Given the description of an element on the screen output the (x, y) to click on. 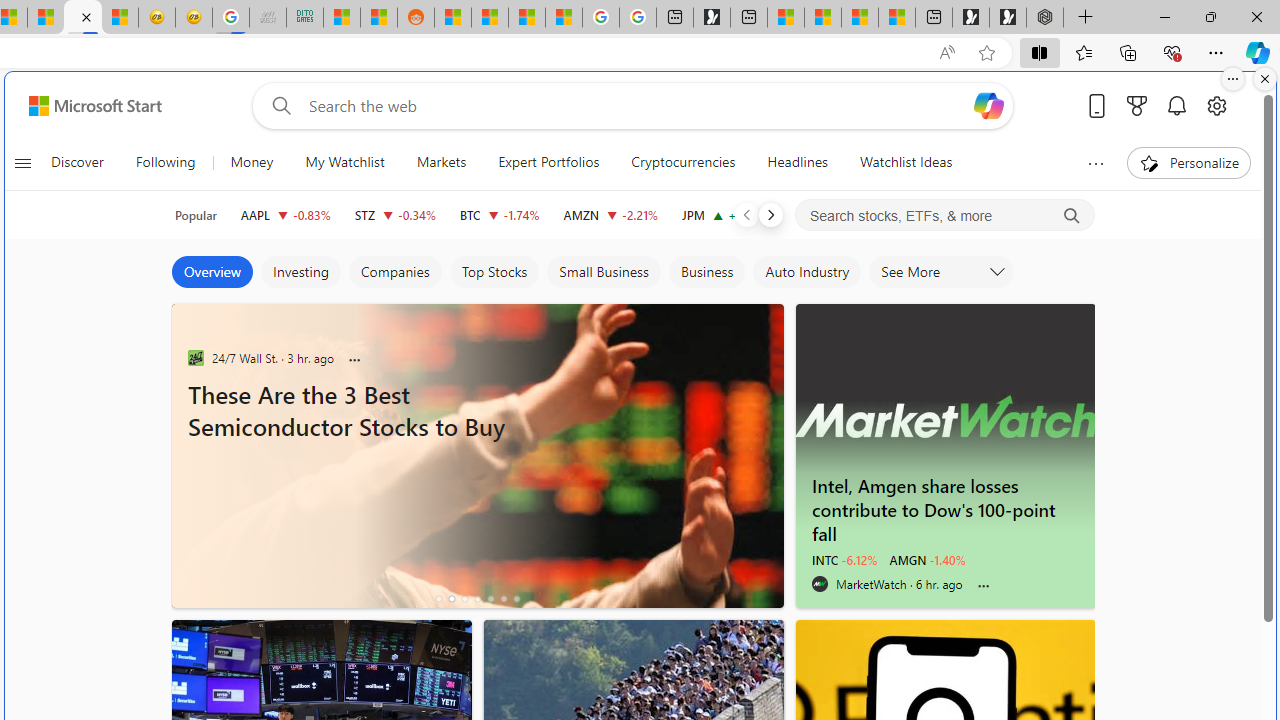
Money (251, 162)
Markets (440, 162)
AAPL APPLE INC. decrease 224.53 -1.87 -0.83% (285, 214)
Enter your search term (637, 106)
